Given the description of an element on the screen output the (x, y) to click on. 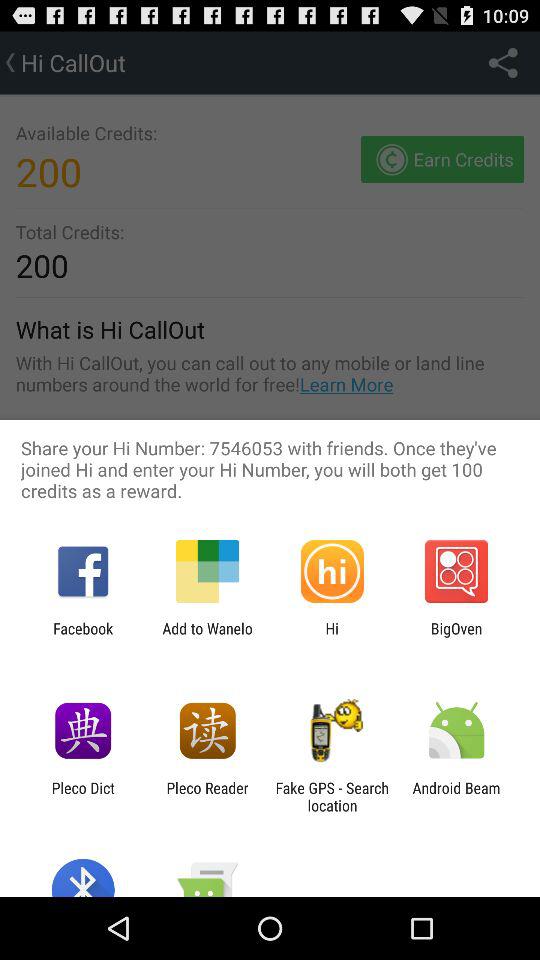
select the app to the left of add to wanelo (83, 637)
